Given the description of an element on the screen output the (x, y) to click on. 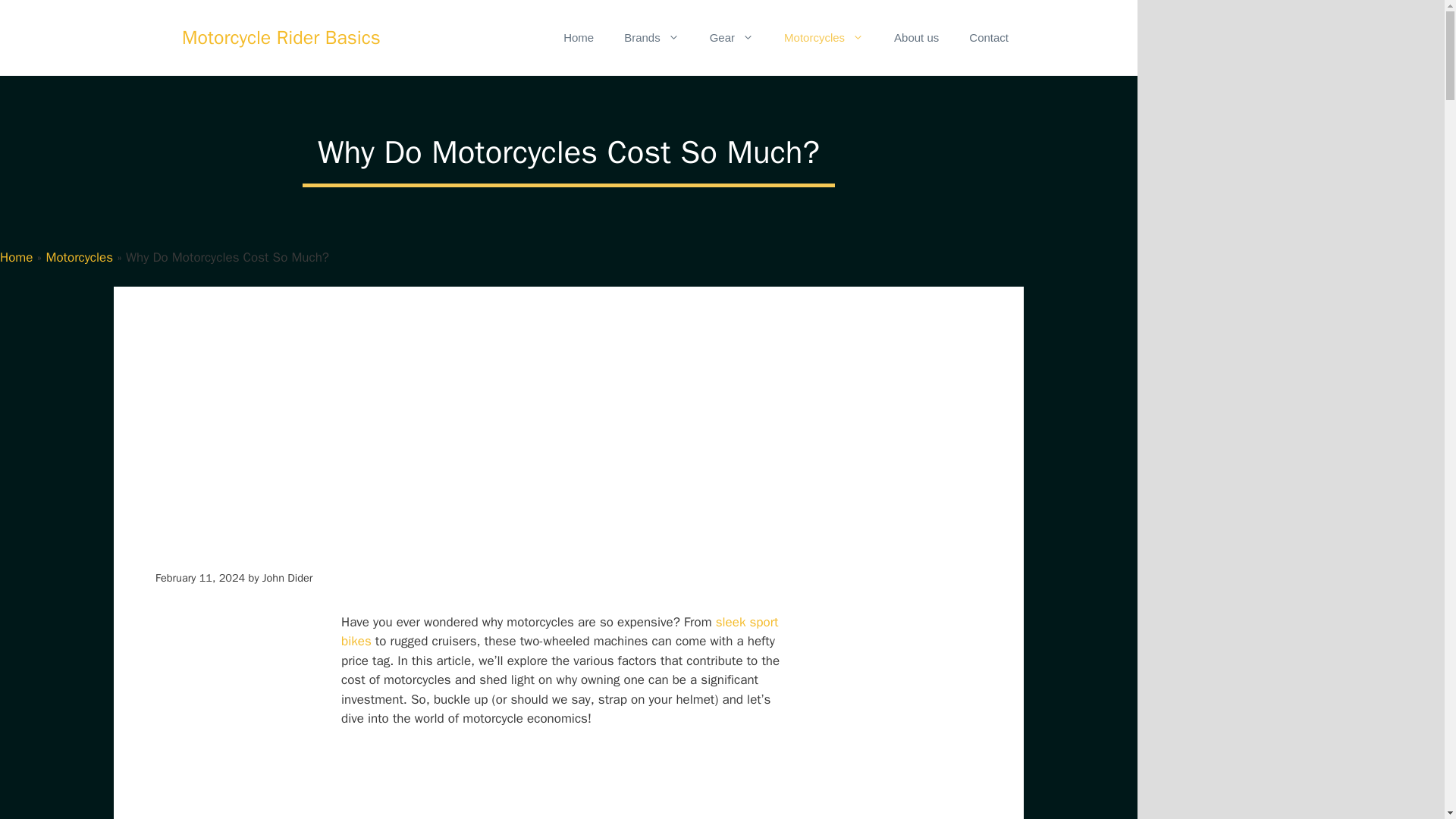
Home (578, 37)
Motorcycles (79, 257)
Gear (731, 37)
Brands (651, 37)
Motorcycle Rider Basics (281, 38)
Motorcycles (823, 37)
sleek sport bikes (559, 632)
John Dider (287, 577)
About us (916, 37)
View all posts by John Dider (287, 577)
